Given the description of an element on the screen output the (x, y) to click on. 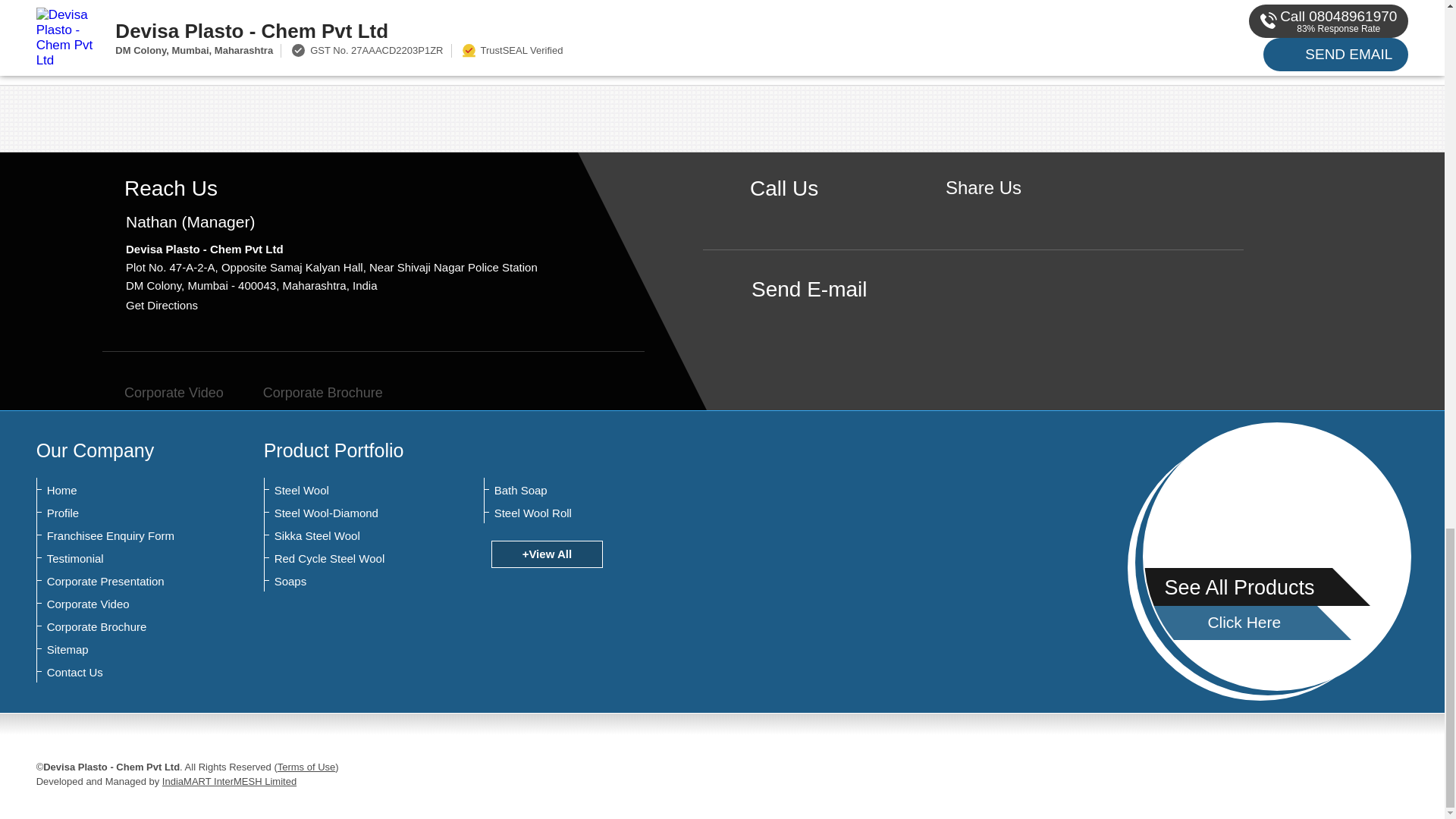
Home (121, 490)
Corporate Brochure (311, 392)
Get Directions (161, 305)
Facebook (983, 213)
Corporate Video (162, 392)
Twitter (1006, 213)
Profile (121, 513)
LinkedIn (1029, 213)
